Given the description of an element on the screen output the (x, y) to click on. 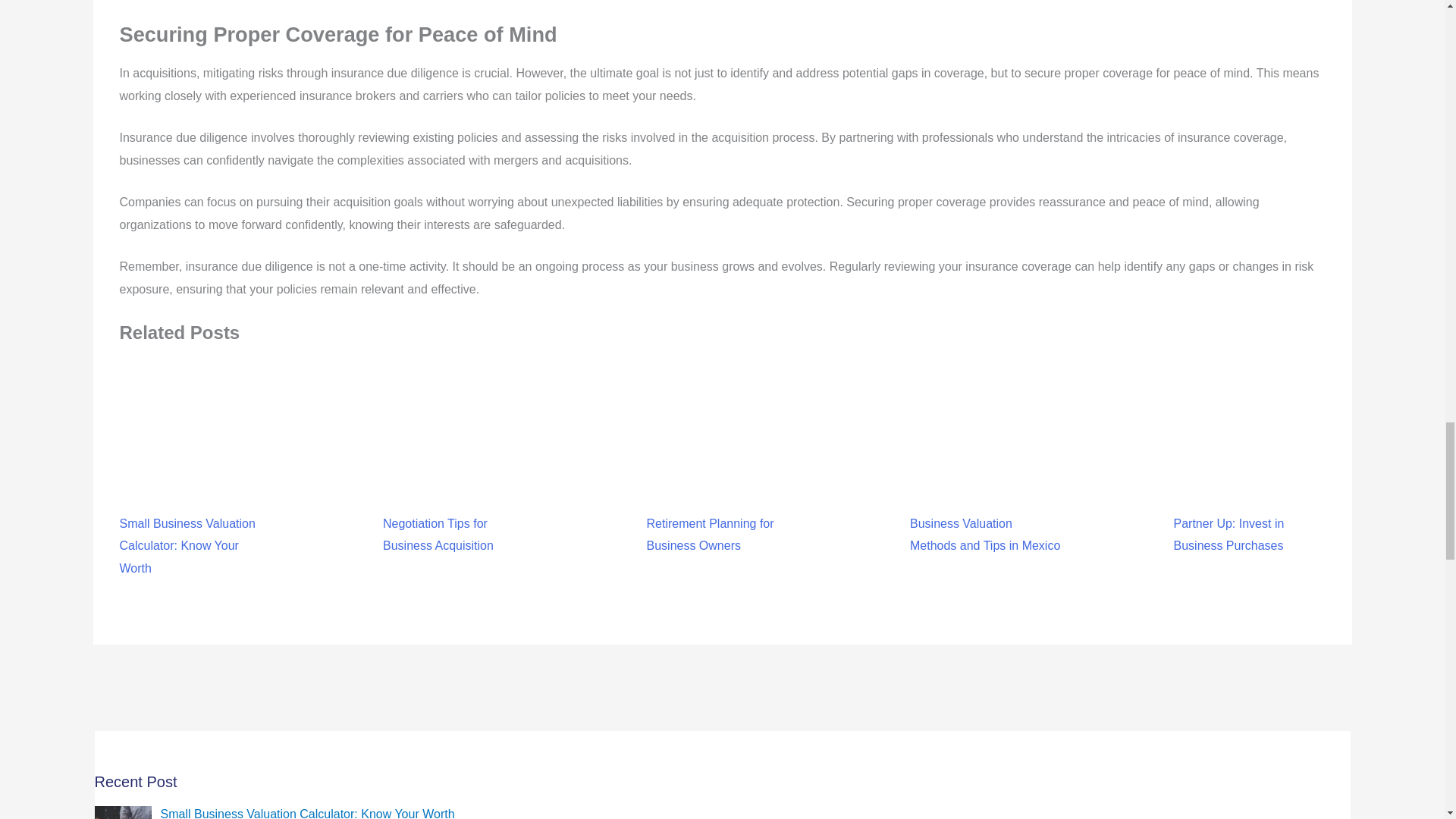
Small Business Valuation Calculator: Know Your Worth (307, 813)
Business Valuation Methods and Tips in Mexico (985, 490)
Retirement Planning for Business Owners (721, 490)
Small Business Valuation Calculator: Know Your Worth (194, 501)
Partner Up: Invest in Business Purchases (1248, 490)
Negotiation Tips for Business Acquisition (458, 490)
